Given the description of an element on the screen output the (x, y) to click on. 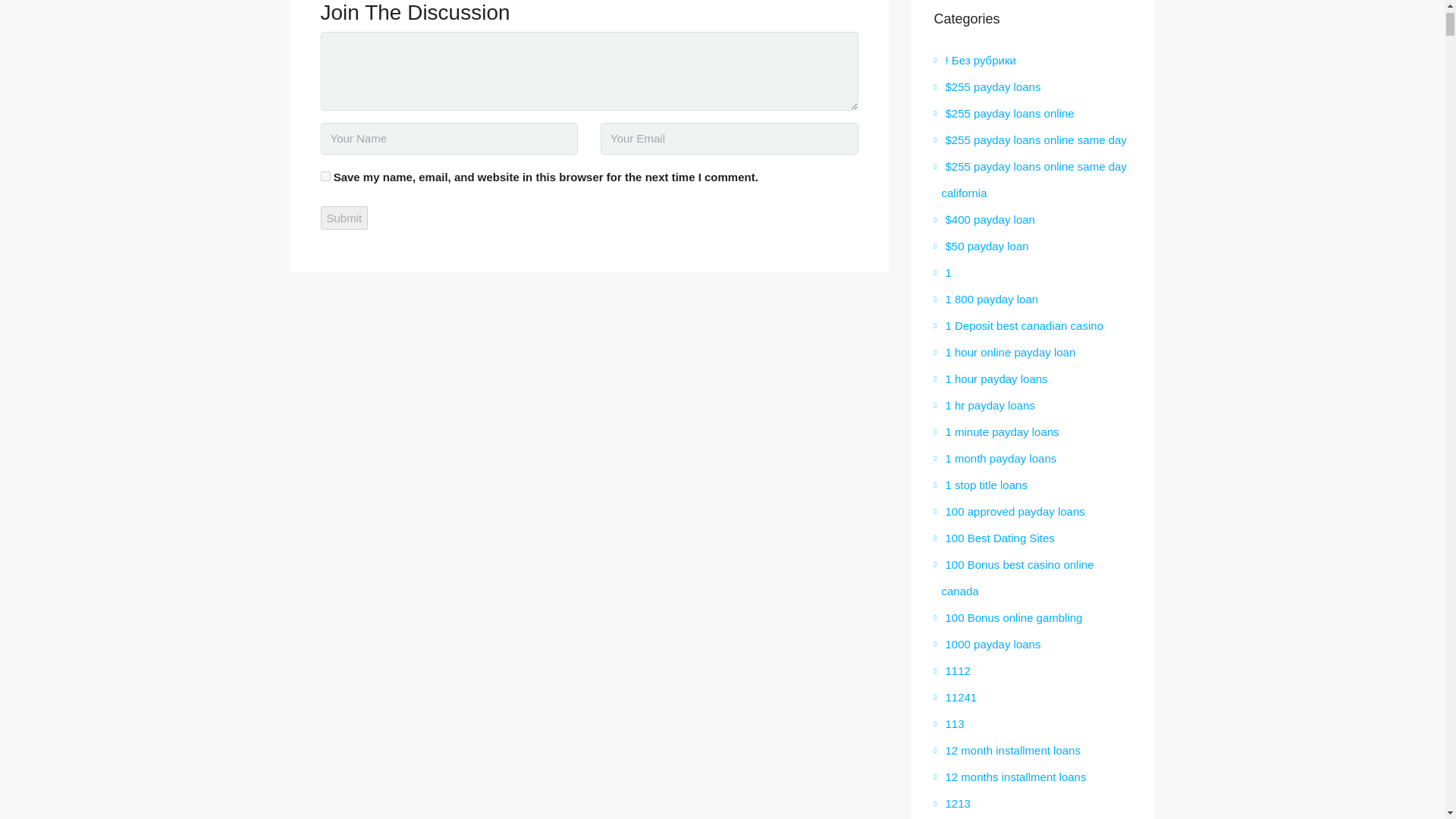
yes (325, 175)
Submit (344, 218)
Submit (344, 218)
